Given the description of an element on the screen output the (x, y) to click on. 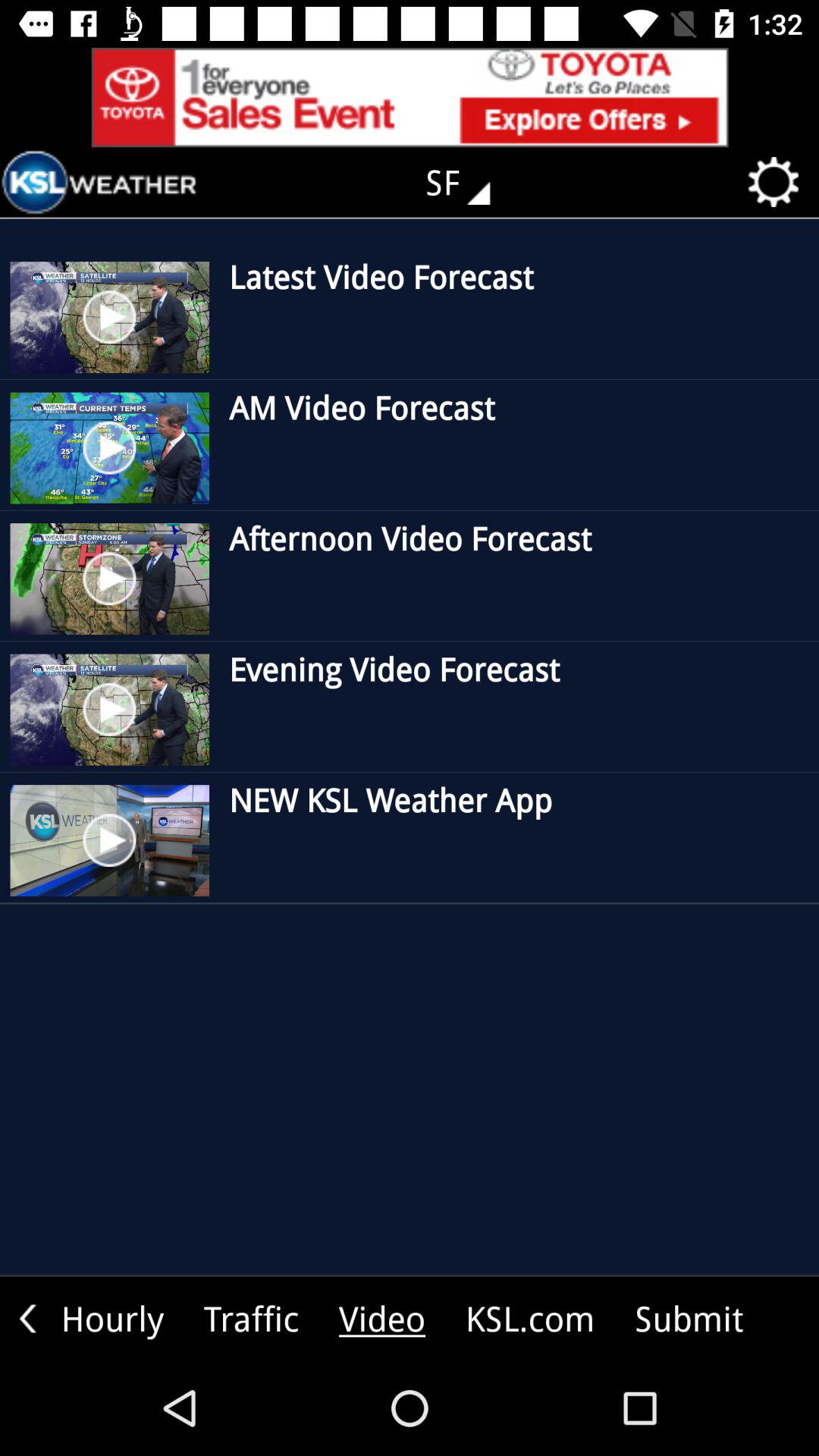
select the text sf which is before the setting icon (468, 181)
move to the text hourly which is bottom left to the page (119, 1317)
select the settings button which is right side corner of the first line (778, 181)
choose the text beside video (530, 1317)
click on option which is beside kslcom (689, 1317)
